Given the description of an element on the screen output the (x, y) to click on. 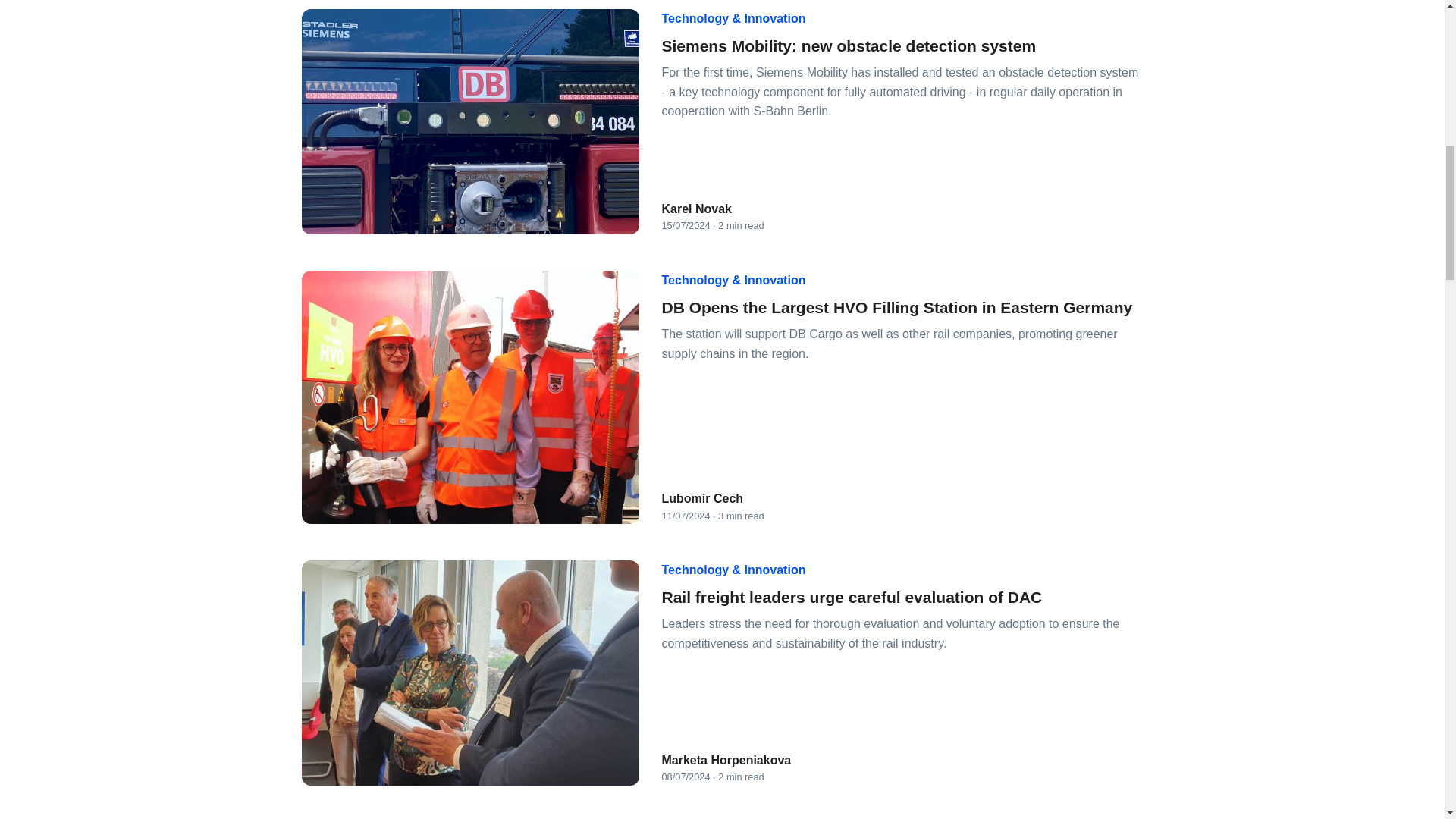
Lubomir Cech (701, 498)
Karel Novak (696, 209)
DB Opens the Largest HVO Filling Station in Eastern Germany (896, 307)
Siemens Mobility: new obstacle detection system (848, 45)
